Given the description of an element on the screen output the (x, y) to click on. 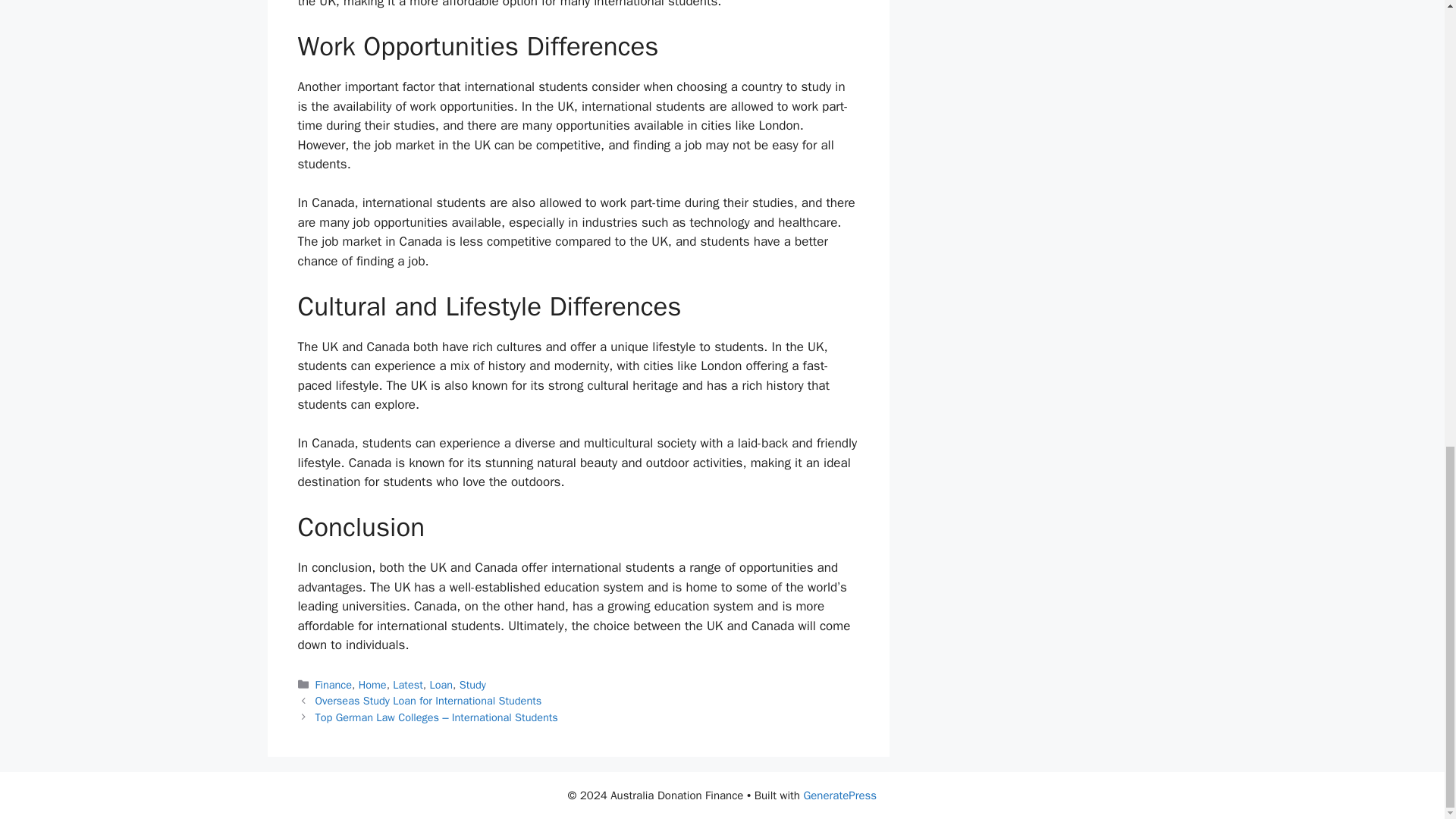
Overseas Study Loan for International Students (428, 700)
Finance (333, 684)
GeneratePress (839, 795)
Study (473, 684)
Latest (408, 684)
Home (372, 684)
Loan (440, 684)
